Given the description of an element on the screen output the (x, y) to click on. 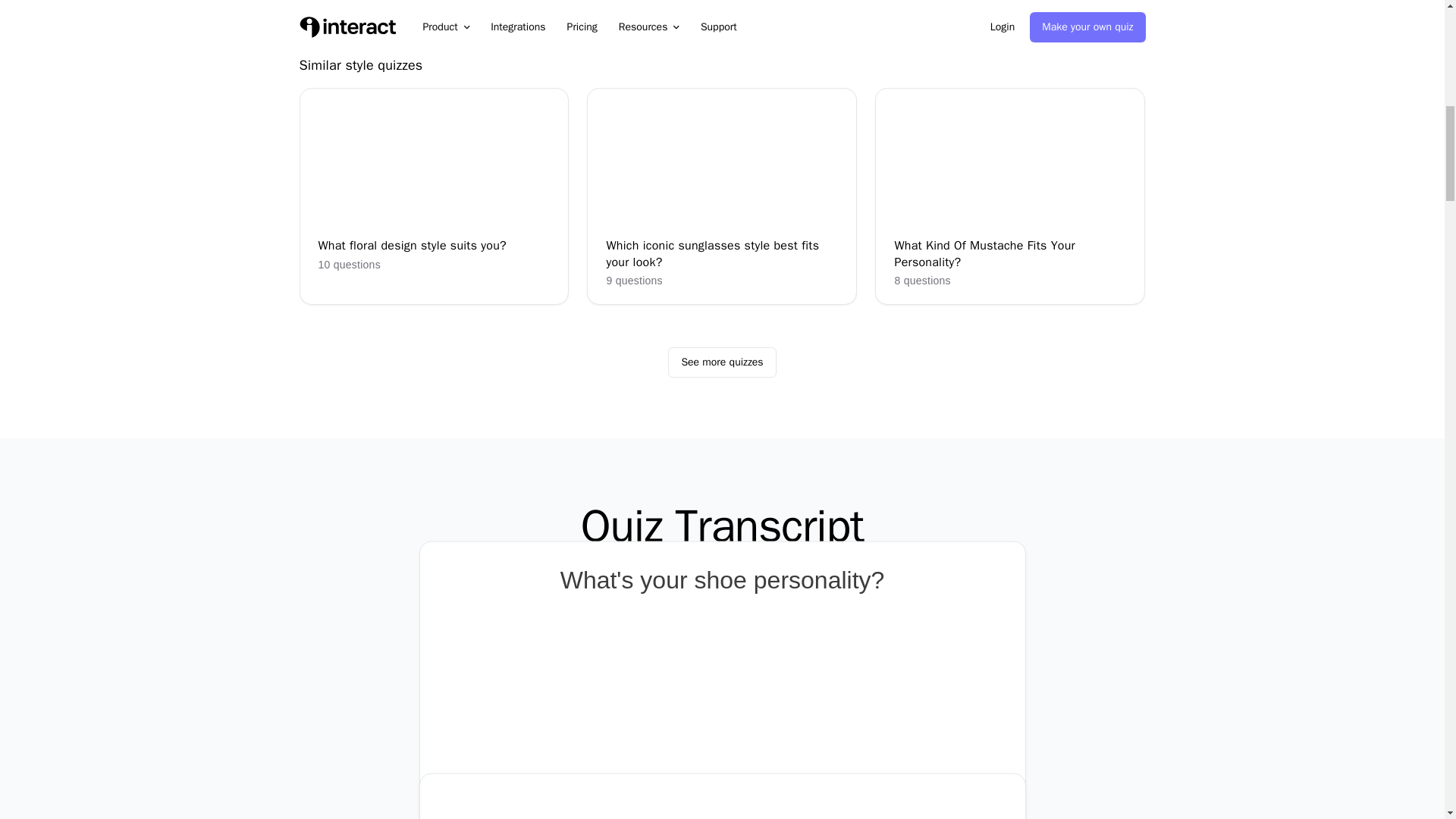
See more quizzes (722, 362)
